Given the description of an element on the screen output the (x, y) to click on. 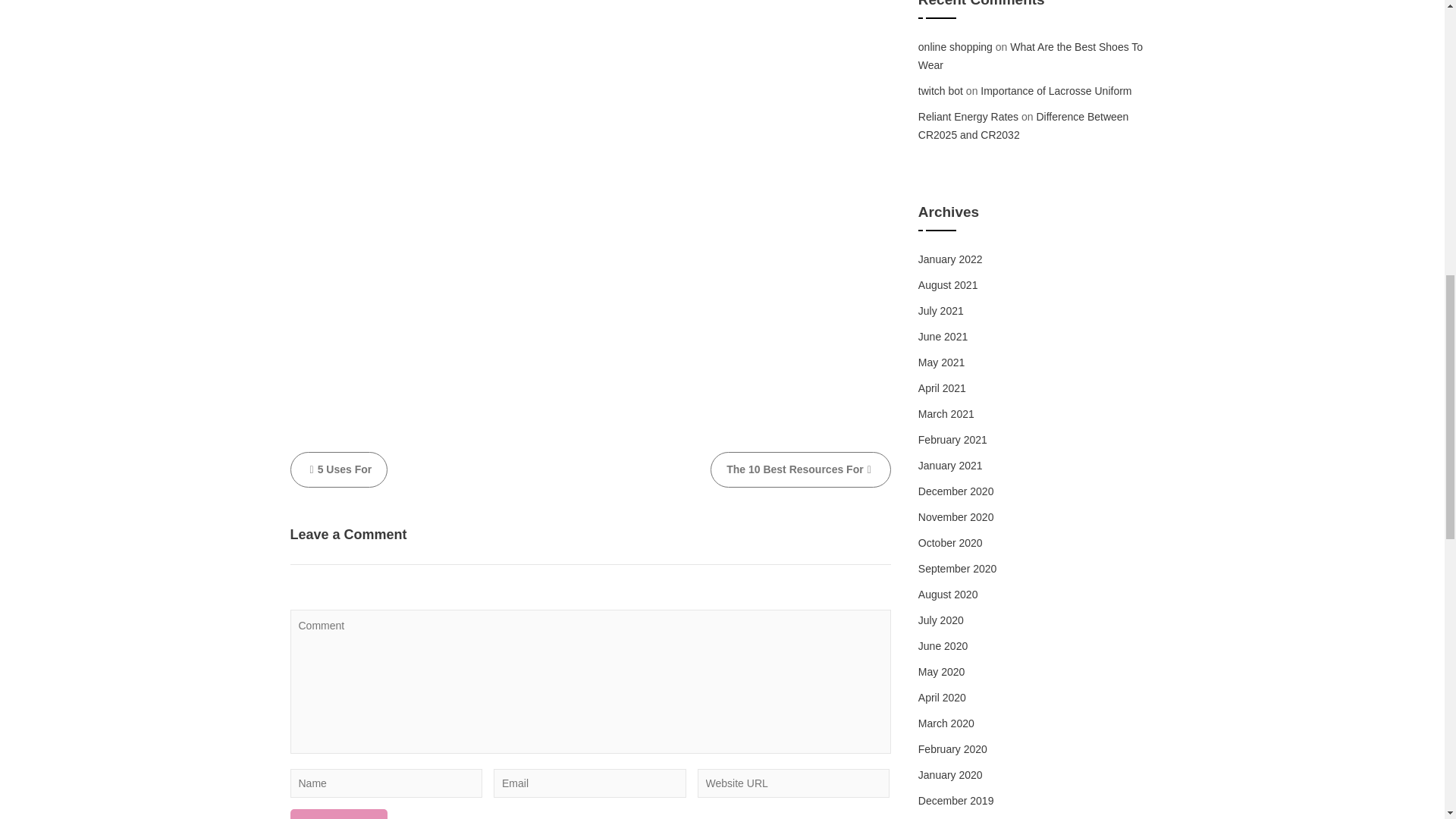
Importance of Lacrosse Uniform (1055, 91)
Reliant Energy Rates (967, 116)
Add Comment (338, 814)
February 2021 (952, 439)
August 2021 (948, 285)
November 2020 (956, 517)
Difference Between CR2025 and CR2032 (1023, 125)
May 2021 (940, 362)
twitch bot (940, 91)
online shopping (955, 46)
January 2021 (950, 465)
What Are the Best Shoes To Wear (1030, 55)
January 2022 (950, 259)
March 2021 (946, 413)
5 Uses For (338, 469)
